Given the description of an element on the screen output the (x, y) to click on. 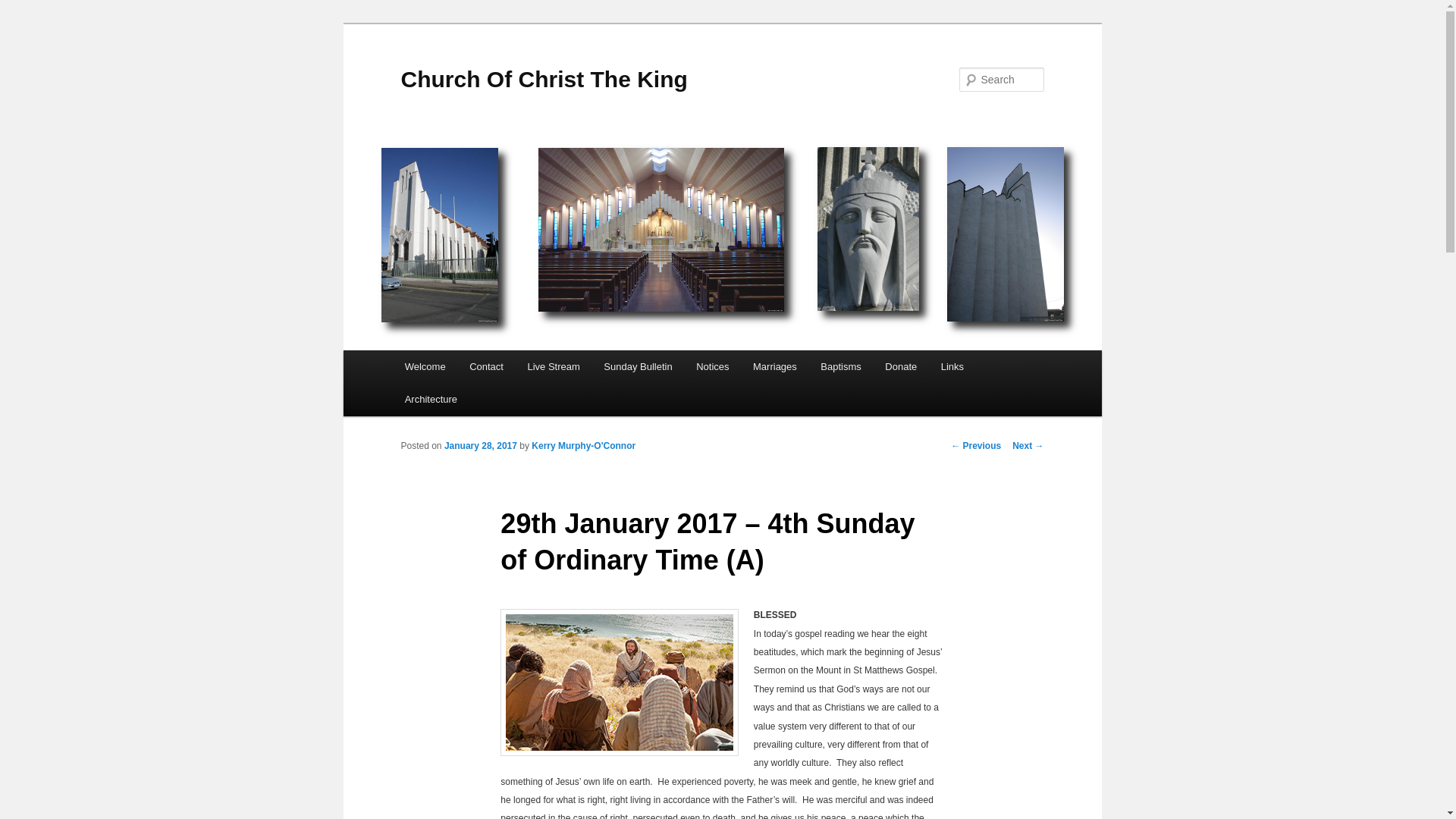
Welcome (425, 366)
Church Of Christ The King (543, 78)
January 28, 2017 (480, 445)
Live Stream (553, 366)
Notices (712, 366)
Marriages (774, 366)
Kerry Murphy-O'Connor (582, 445)
Baptisms (841, 366)
View all posts by Kerry Murphy-O'Connor (582, 445)
Donate (900, 366)
Links (951, 366)
Contact (486, 366)
Sunday Bulletin (638, 366)
Search (24, 8)
